Given the description of an element on the screen output the (x, y) to click on. 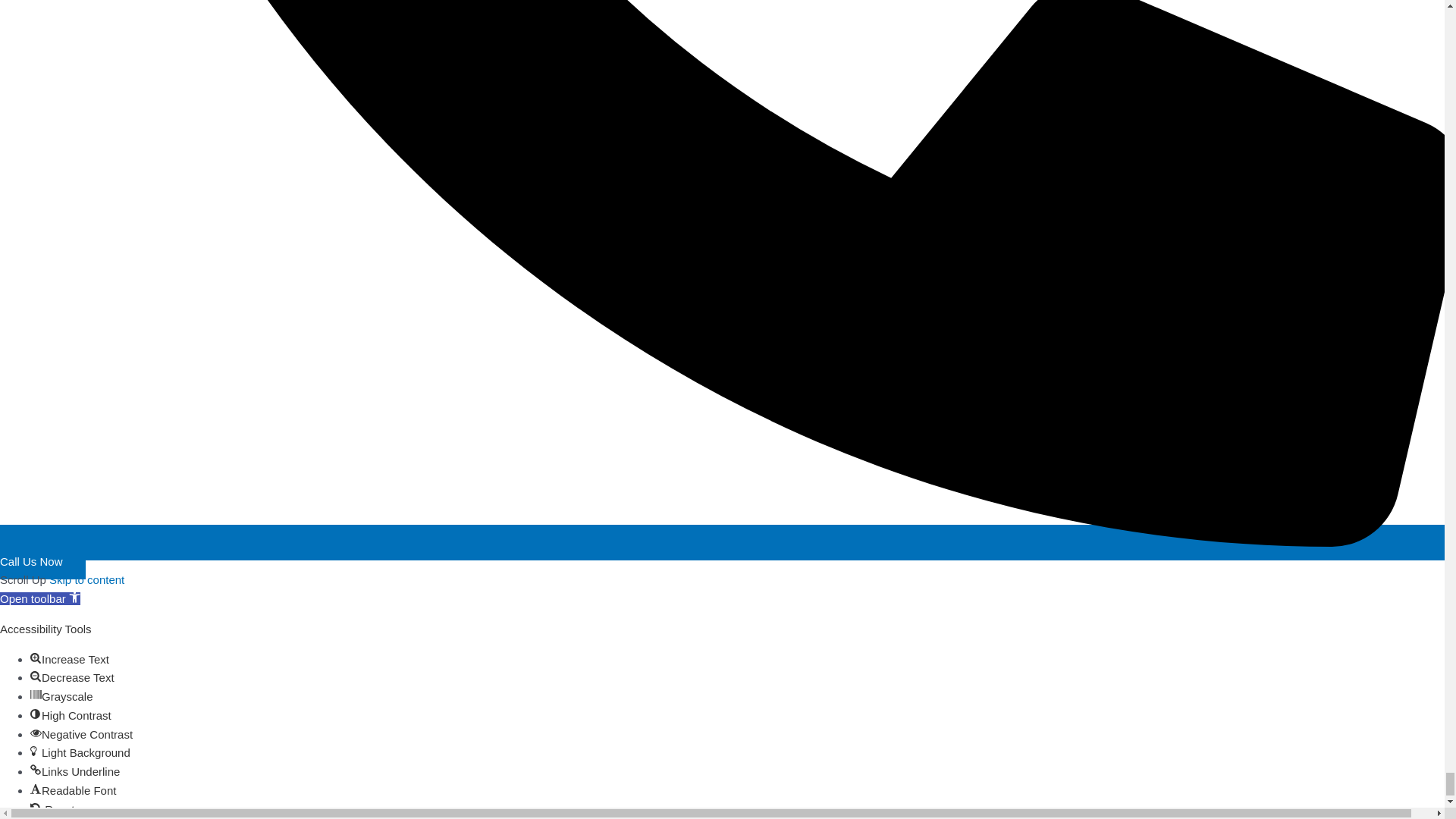
Accessibility Tools (74, 596)
Increase Text (36, 657)
Grayscale (36, 695)
Accessibility Tools (40, 598)
Negative Contrast (36, 732)
Decrease Text (36, 675)
High Contrast (36, 713)
